Given the description of an element on the screen output the (x, y) to click on. 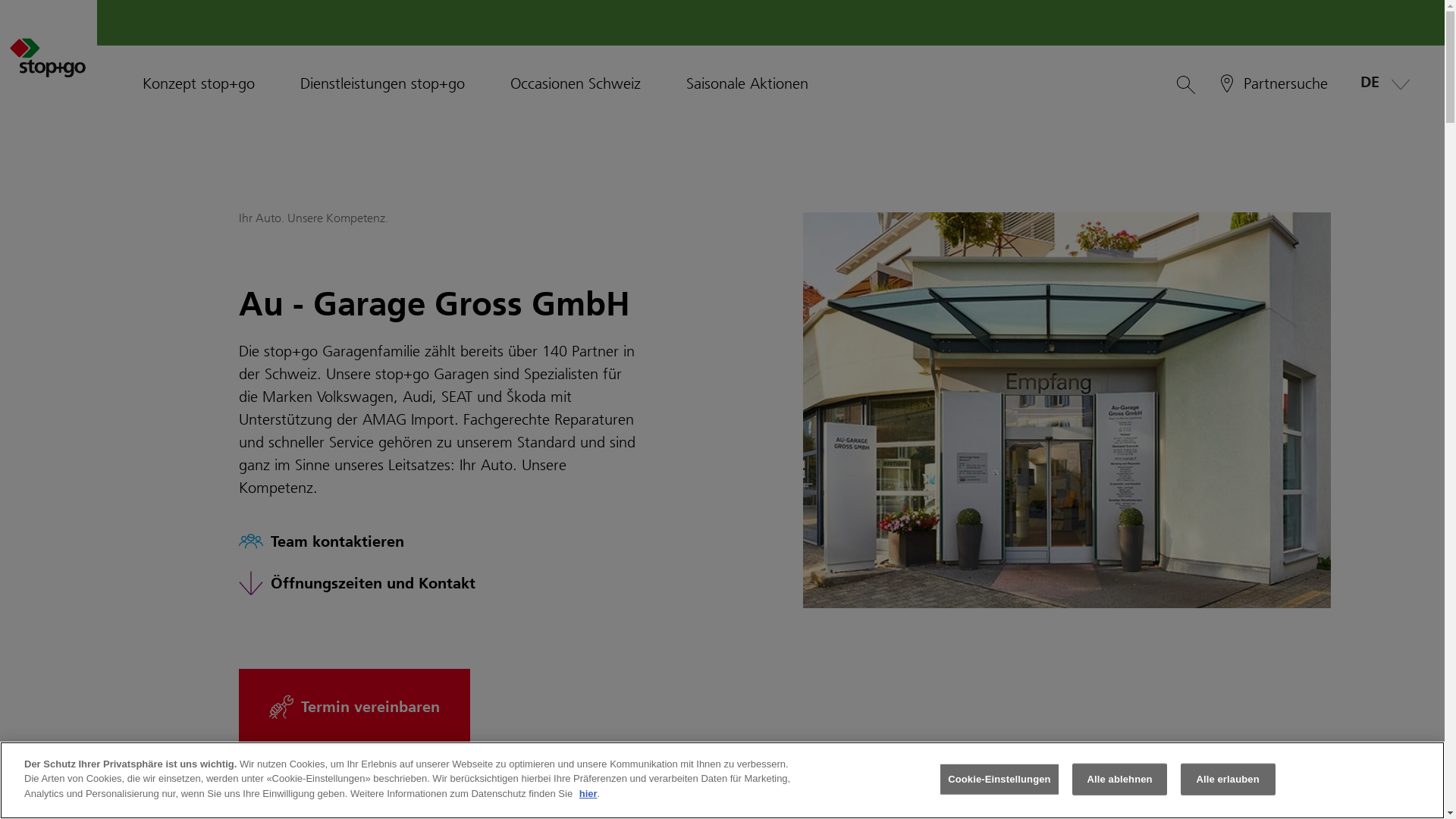
Termin vereinbaren Element type: text (354, 706)
hier Element type: text (588, 793)
Alle ablehnen Element type: text (1119, 779)
Partnersuche Element type: text (1272, 83)
Saisonale Aktionen Element type: text (747, 83)
Konzept stop+go Element type: text (198, 83)
Ihr Auto. Unsere Kompetenz. Element type: text (315, 217)
Cookie-Einstellungen Element type: text (999, 779)
DE Element type: text (1381, 83)
Occasionen Schweiz Element type: text (575, 83)
Alle erlauben Element type: text (1227, 779)
Dienstleistungen stop+go Element type: text (382, 83)
Team kontaktieren Element type: text (480, 541)
